Given the description of an element on the screen output the (x, y) to click on. 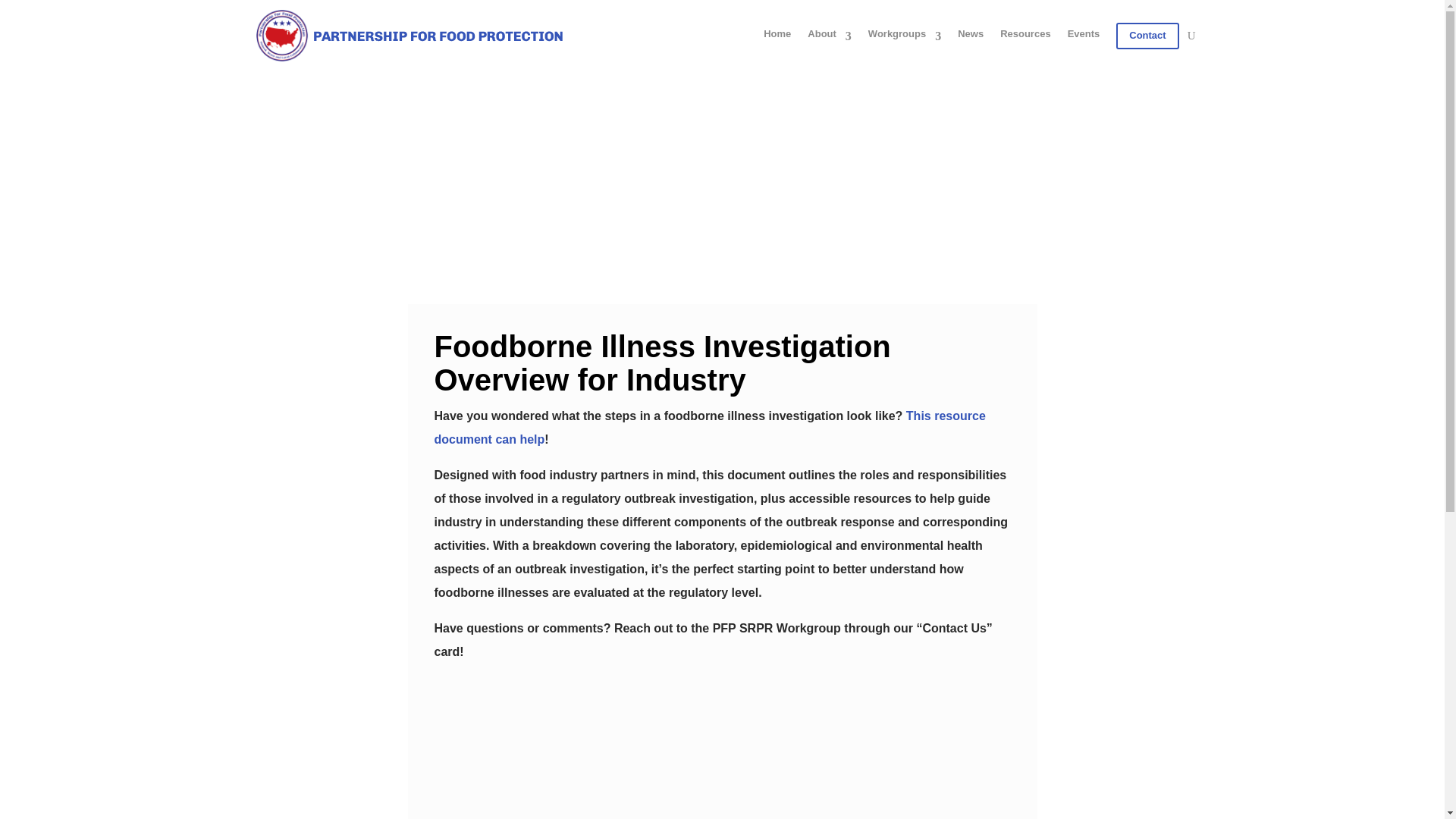
News (971, 35)
Workgroups (903, 35)
About (829, 35)
Resources (1024, 35)
This resource document can help (709, 427)
Contact (1146, 35)
Home (776, 35)
Events (1083, 35)
